Given the description of an element on the screen output the (x, y) to click on. 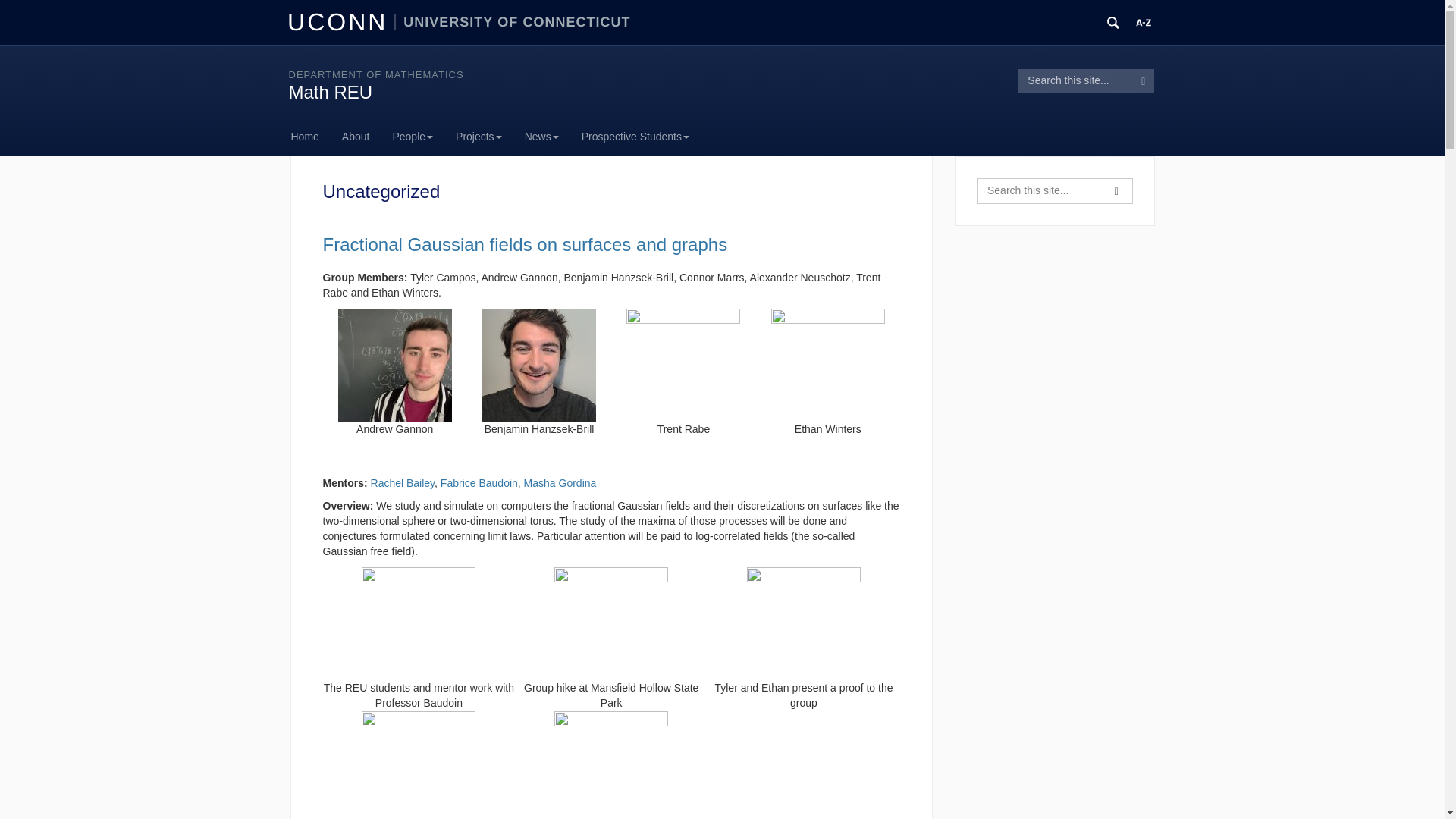
DEPARTMENT OF MATHEMATICS (375, 74)
Home (310, 136)
UConn A to Z Index (1143, 22)
Search (1116, 191)
Search UConn (1112, 22)
UCONN (340, 21)
Search this site...  (1074, 80)
Math REU (330, 91)
Search (1143, 80)
About (355, 136)
UNIVERSITY OF CONNECTICUT (512, 21)
Projects (478, 136)
People (412, 136)
Search this site...  (1039, 191)
Search (1143, 80)
